Given the description of an element on the screen output the (x, y) to click on. 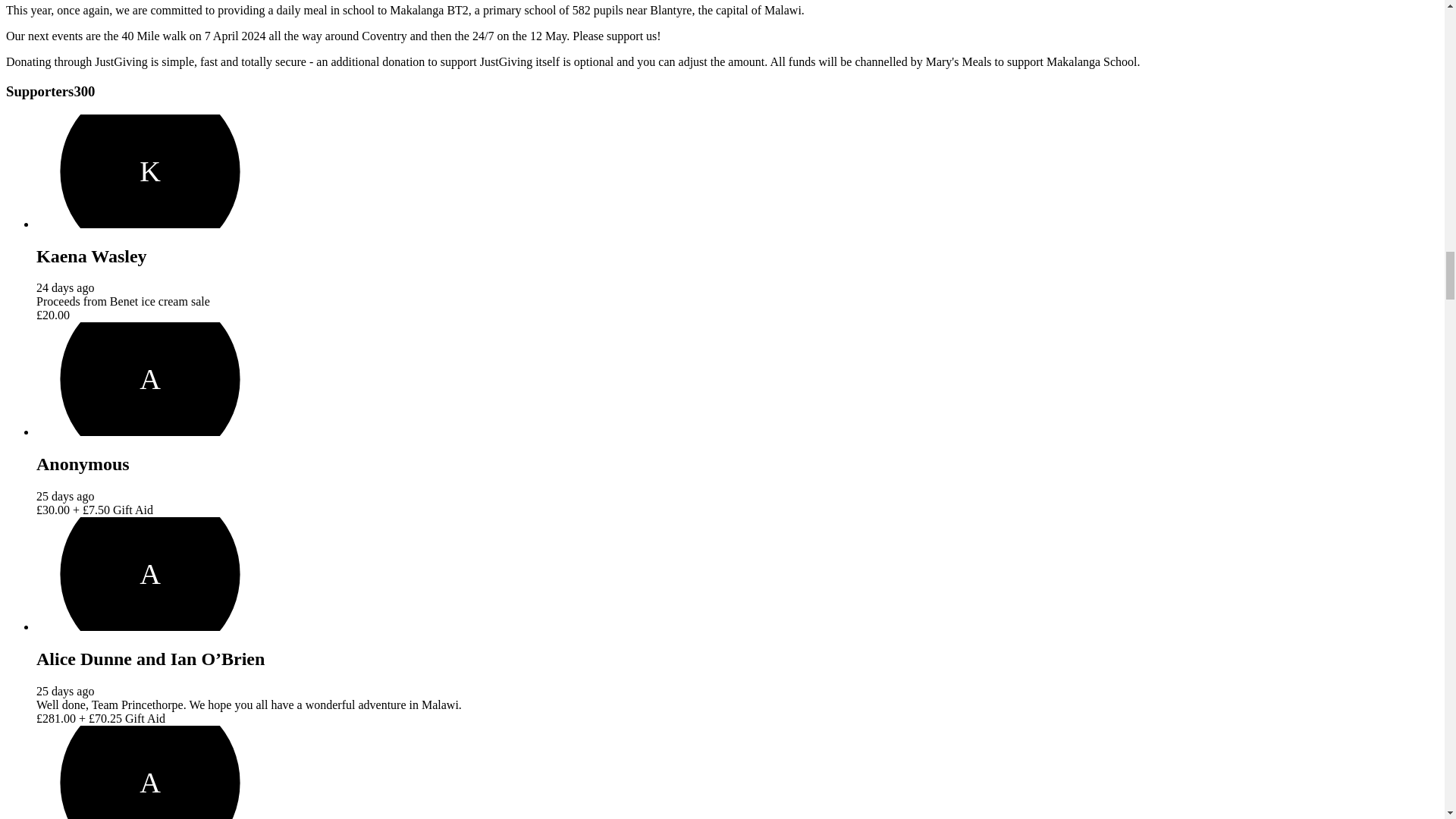
A (149, 378)
A (149, 772)
A (149, 573)
K (149, 171)
